Given the description of an element on the screen output the (x, y) to click on. 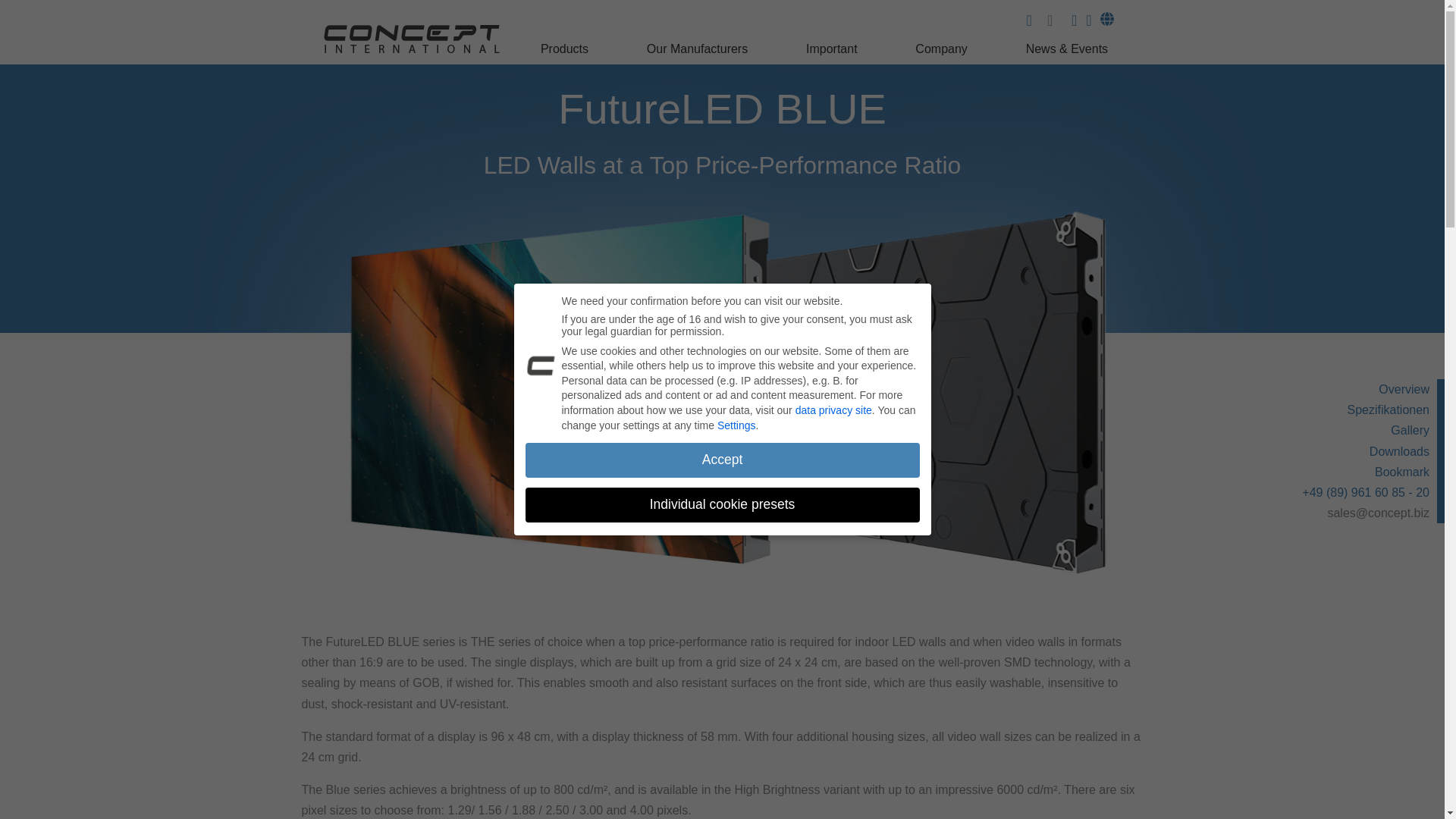
Products (566, 52)
Company (943, 52)
Important (833, 52)
Our Manufacturers (699, 52)
